Given the description of an element on the screen output the (x, y) to click on. 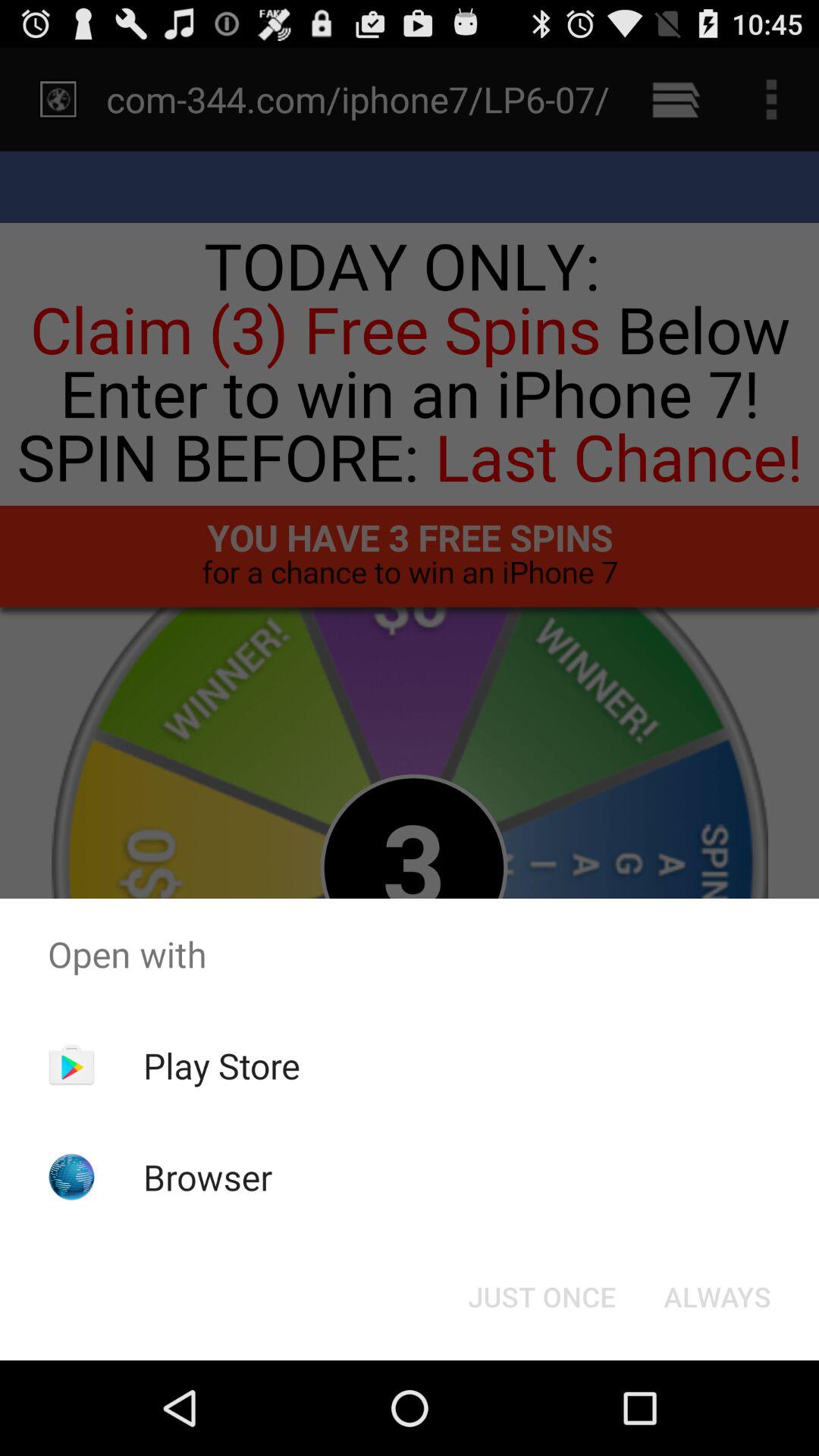
jump to browser item (207, 1176)
